Given the description of an element on the screen output the (x, y) to click on. 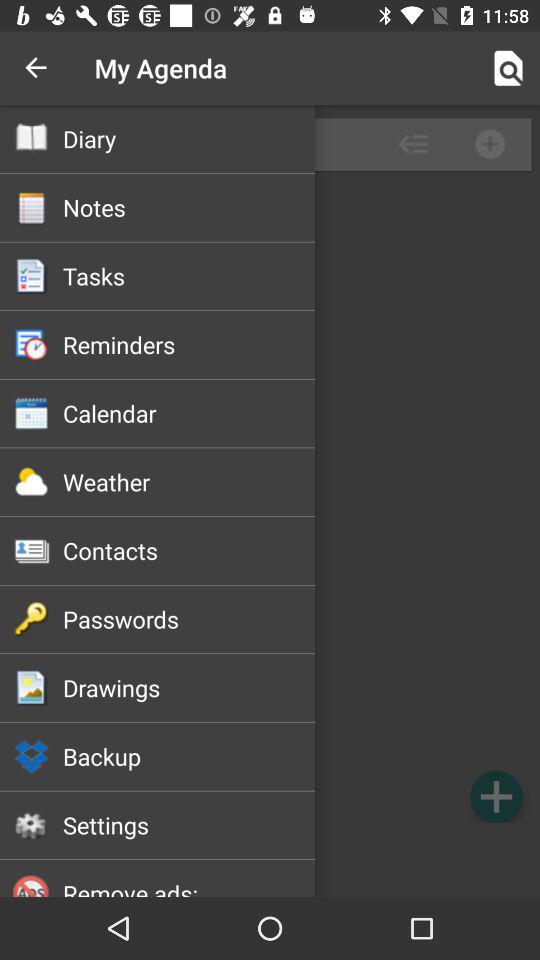
open the diary (188, 138)
